Given the description of an element on the screen output the (x, y) to click on. 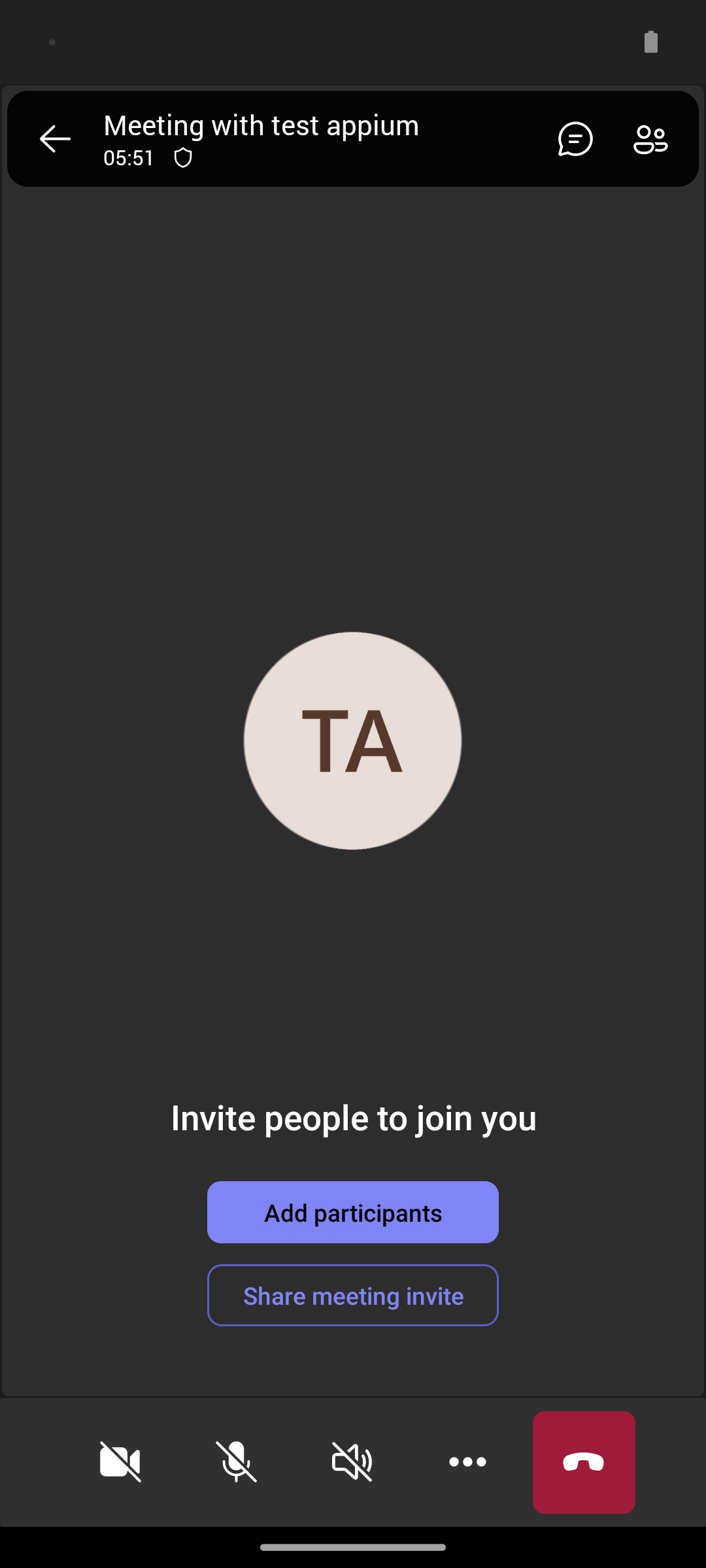
Back (55, 138)
Chat (570, 138)
Show participants (655, 138)
Add participants (352, 1211)
Share meeting invite (352, 1294)
Turn on camera (120, 1462)
Unmute (236, 1462)
Audio (352, 1462)
More options (468, 1462)
Hang up (584, 1462)
